Given the description of an element on the screen output the (x, y) to click on. 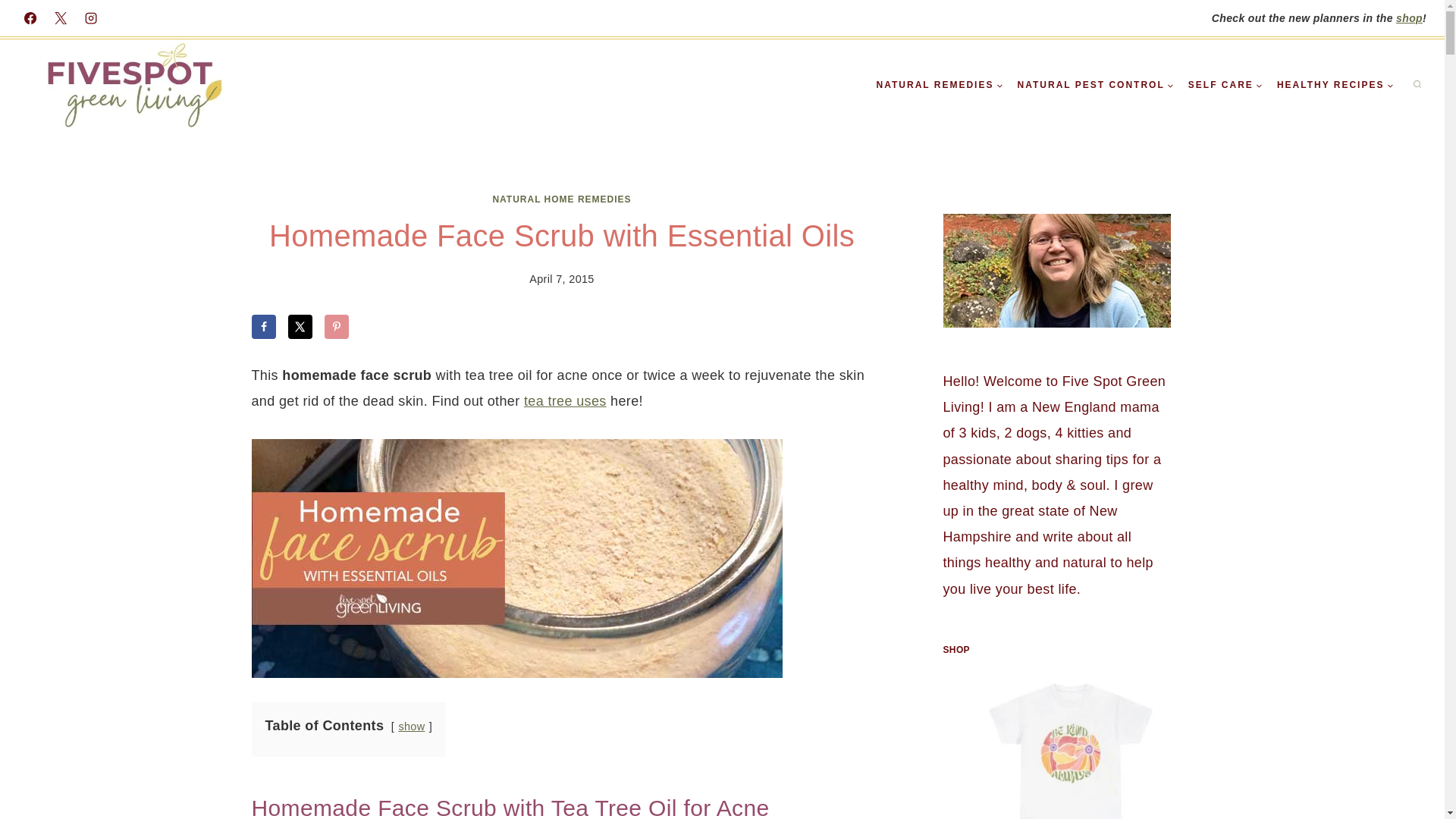
Save to Pinterest (336, 326)
Homemade Face Scrub with Tea Tree Oil for Acne (517, 558)
Share on Facebook (263, 326)
tea tree uses (565, 400)
show (411, 726)
NATURAL PEST CONTROL (1095, 85)
HEALTHY RECIPES (1334, 85)
shop (1409, 18)
NATURAL HOME REMEDIES (561, 199)
NATURAL REMEDIES (939, 85)
SELF CARE (1224, 85)
Share on X (300, 326)
